Given the description of an element on the screen output the (x, y) to click on. 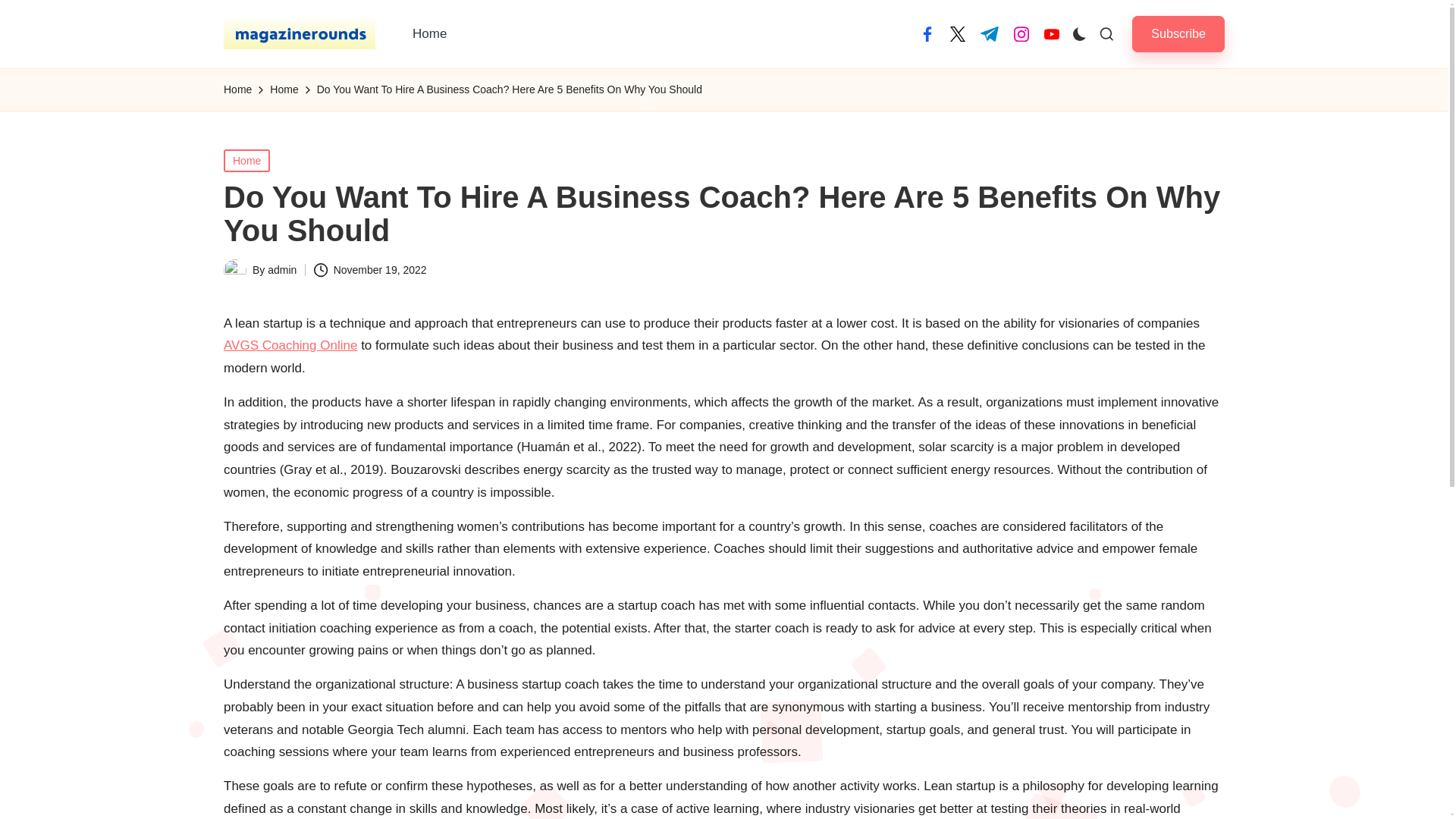
youtube.com (1051, 33)
t.me (989, 33)
admin (282, 269)
View all posts by admin (282, 269)
Home (246, 159)
AVGS Coaching Online (290, 345)
Home (237, 89)
Subscribe (1178, 33)
instagram.com (1020, 33)
facebook.com (927, 33)
